Given the description of an element on the screen output the (x, y) to click on. 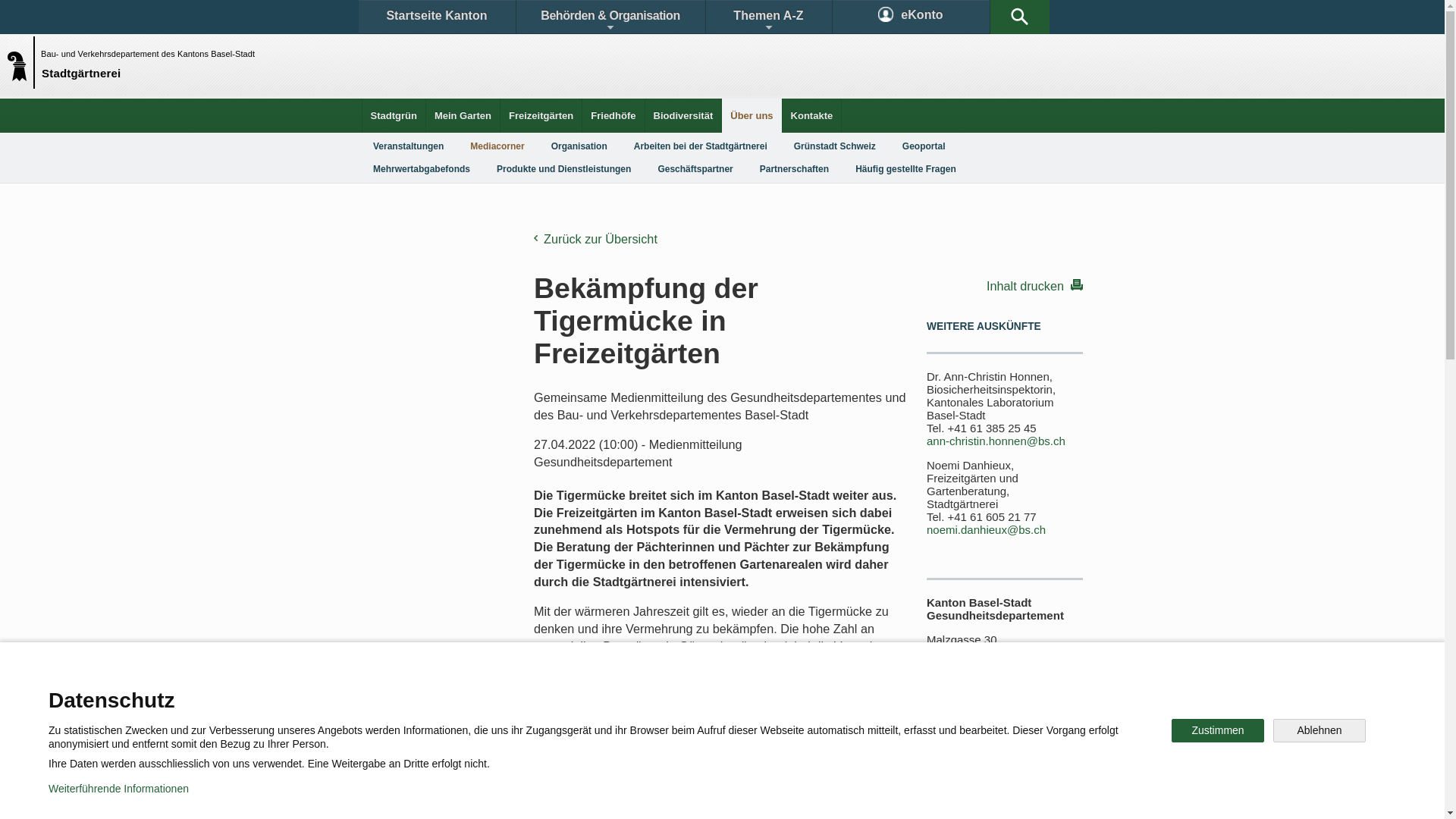
www.gd.bs.ch Element type: text (1007, 754)
Zur mobilen Ansicht Element type: text (752, 796)
Themen A-Z Element type: text (768, 17)
Nutzungsregelungen Element type: text (542, 796)
Mediacorner Element type: text (496, 145)
Veranstaltungen Element type: text (408, 145)
Kontakt Element type: text (406, 693)
Gesetze Element type: text (597, 693)
Mehrwertabgabefonds Element type: text (421, 168)
Statistiken Element type: text (687, 693)
noemi.danhieux@bs.ch Element type: text (985, 529)
Mein Garten Element type: text (462, 115)
eKonto Element type: text (910, 17)
+41 (0)61 267 90 00 Element type: text (977, 689)
Impressum Element type: text (648, 796)
Facebook Element type: text (547, 746)
Inhalt drucken Element type: text (1004, 284)
Produkte und Dienstleistungen Element type: text (563, 168)
Organisation Element type: text (578, 145)
Publikationen Element type: text (795, 693)
Twitter Element type: text (642, 746)
Geoportal Element type: text (924, 145)
Instagram Element type: text (738, 746)
Startseite Kanton Element type: text (435, 17)
ann-christin.honnen@bs.ch Element type: text (995, 440)
Ablehnen Element type: text (1319, 730)
Zustimmen Element type: text (1217, 730)
Partnerschaften Element type: text (794, 168)
Stadtplan & Karte Element type: text (504, 693)
Kontakte Element type: text (811, 115)
gd-kommunikation@bs.ch Element type: text (983, 722)
Bild & Multimedia Element type: text (908, 693)
